Given the description of an element on the screen output the (x, y) to click on. 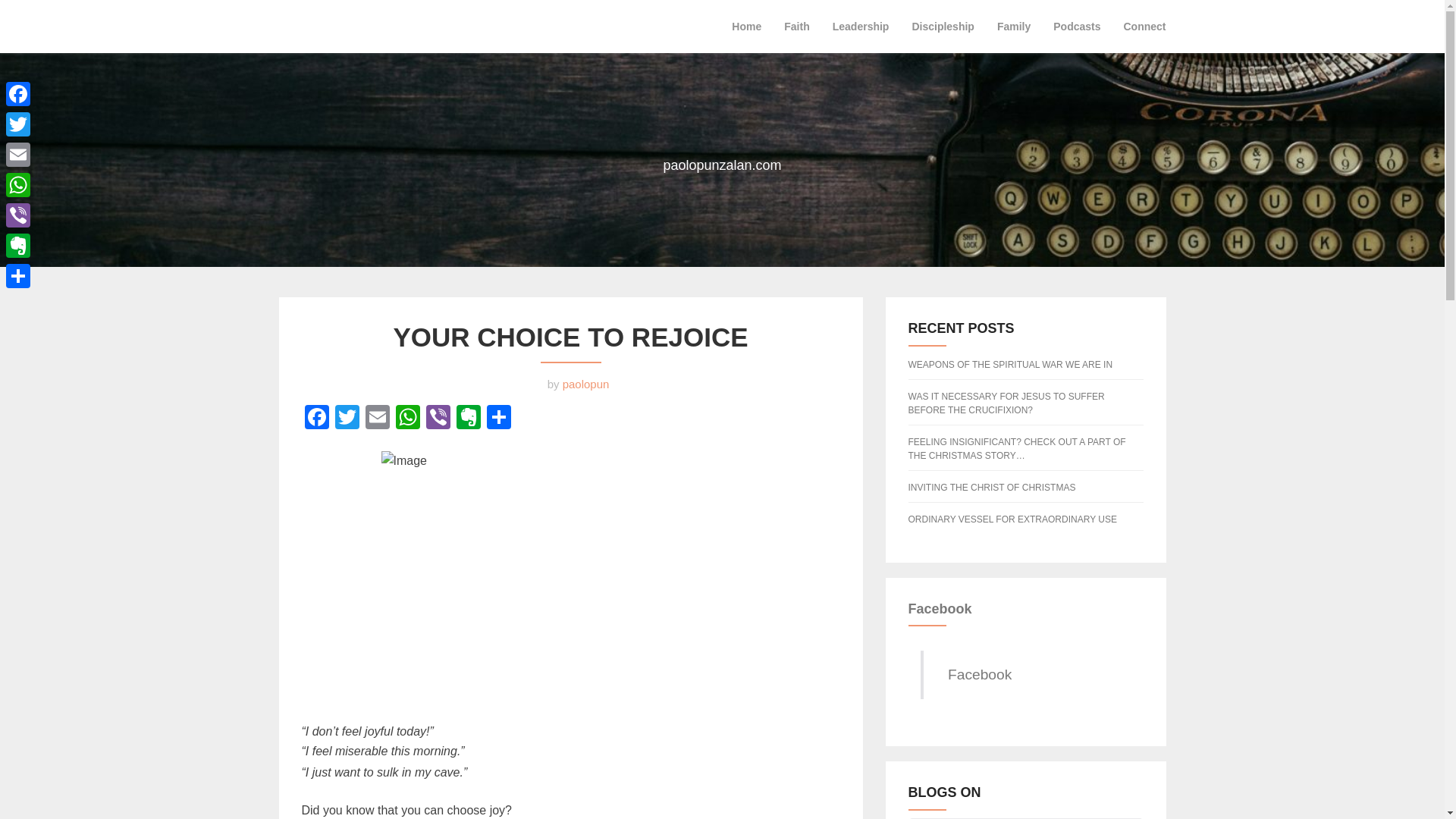
Viber (437, 418)
ORDINARY VESSEL FOR EXTRAORDINARY USE (1012, 519)
Facebook (17, 93)
WhatsApp (17, 184)
Evernote (467, 418)
Facebook (940, 607)
Email (377, 418)
WhatsApp (408, 418)
Twitter (346, 418)
Home (746, 26)
